Given the description of an element on the screen output the (x, y) to click on. 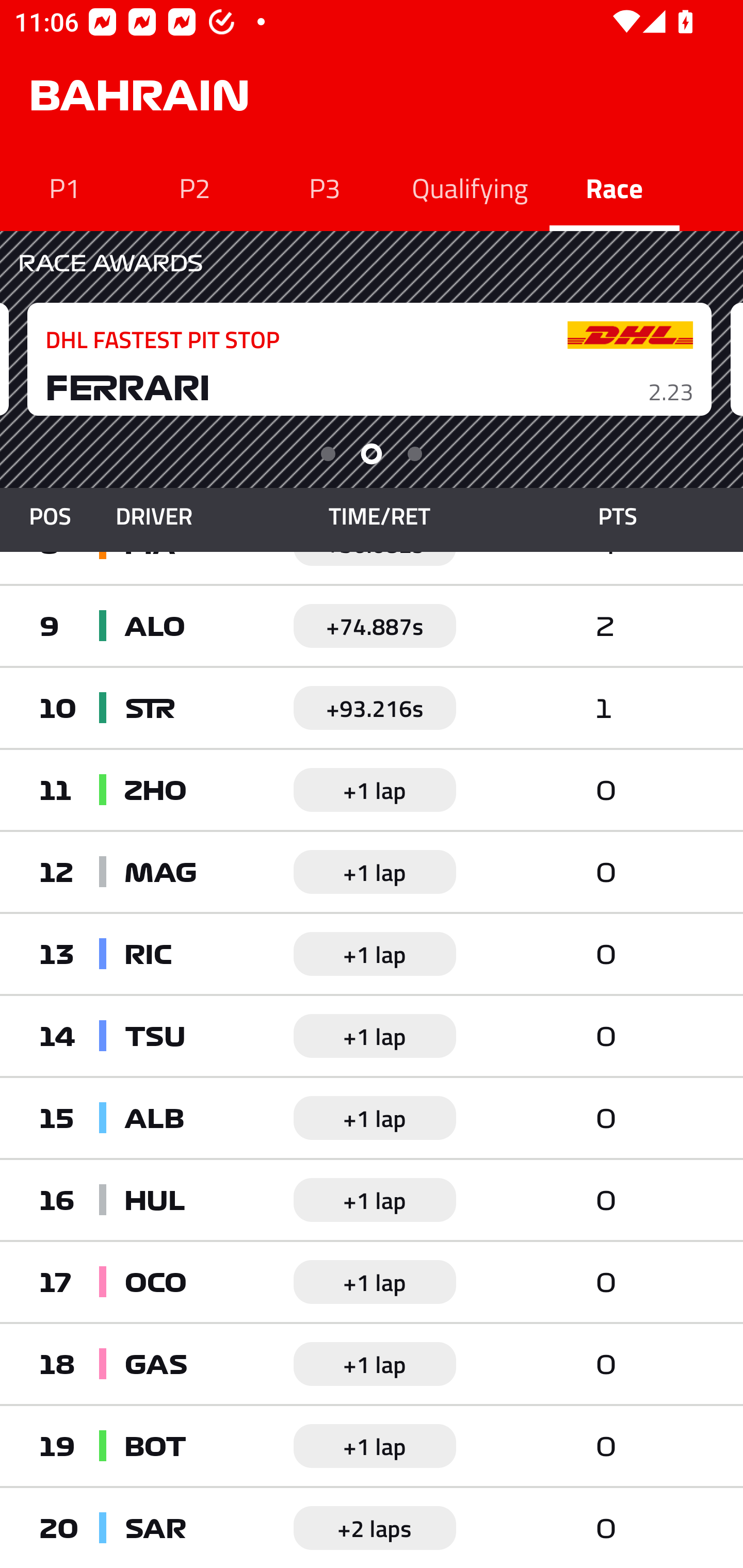
P1 (65, 187)
P2 (195, 187)
P3 (325, 187)
Qualifying (469, 187)
